Given the description of an element on the screen output the (x, y) to click on. 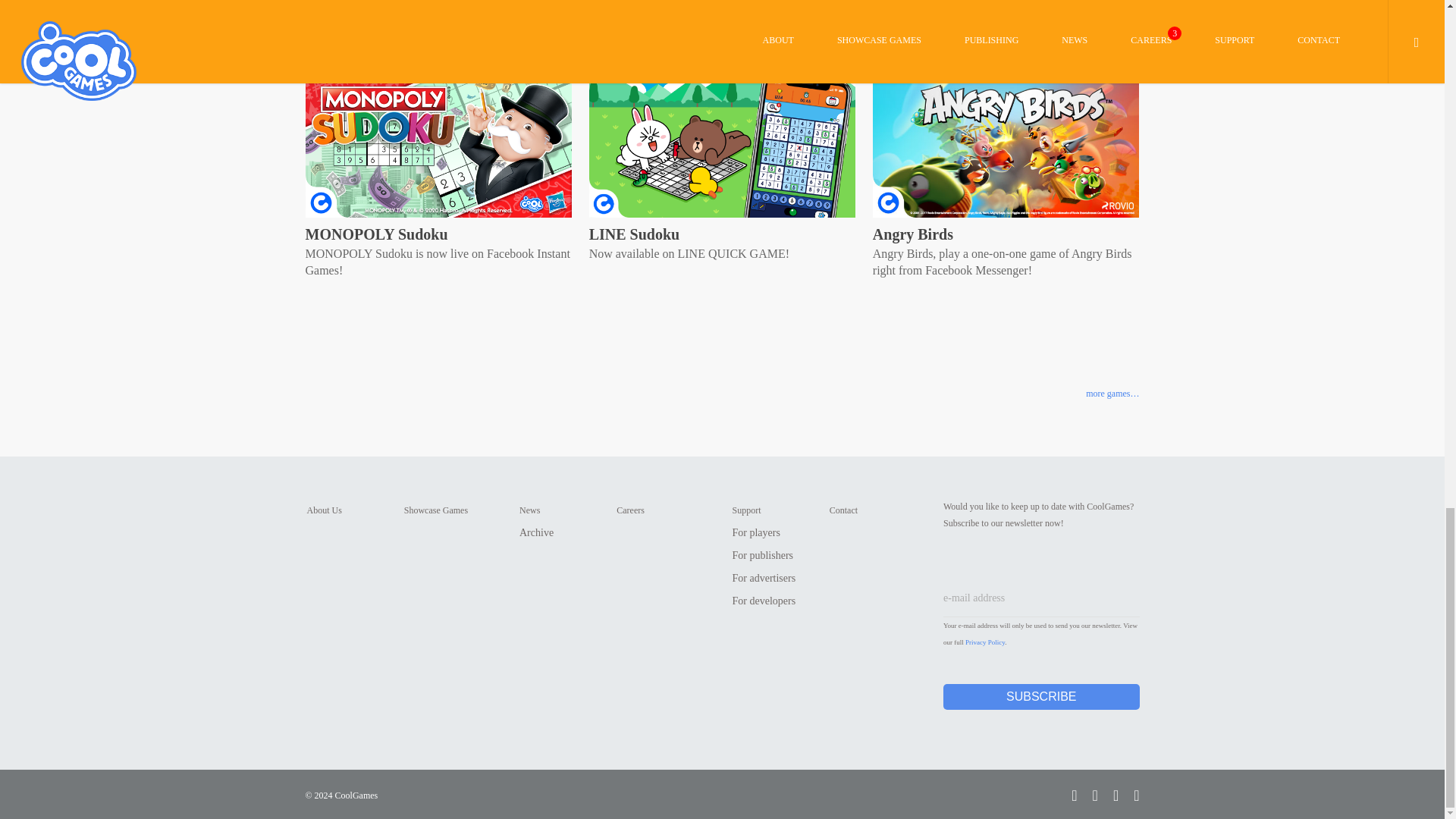
Showcase Games (435, 510)
For advertisers (764, 577)
Contact (843, 510)
About Us (322, 510)
News (529, 510)
For players (756, 532)
Subscribe (1041, 696)
Support (746, 510)
For publishers (762, 555)
Careers (630, 510)
